Given the description of an element on the screen output the (x, y) to click on. 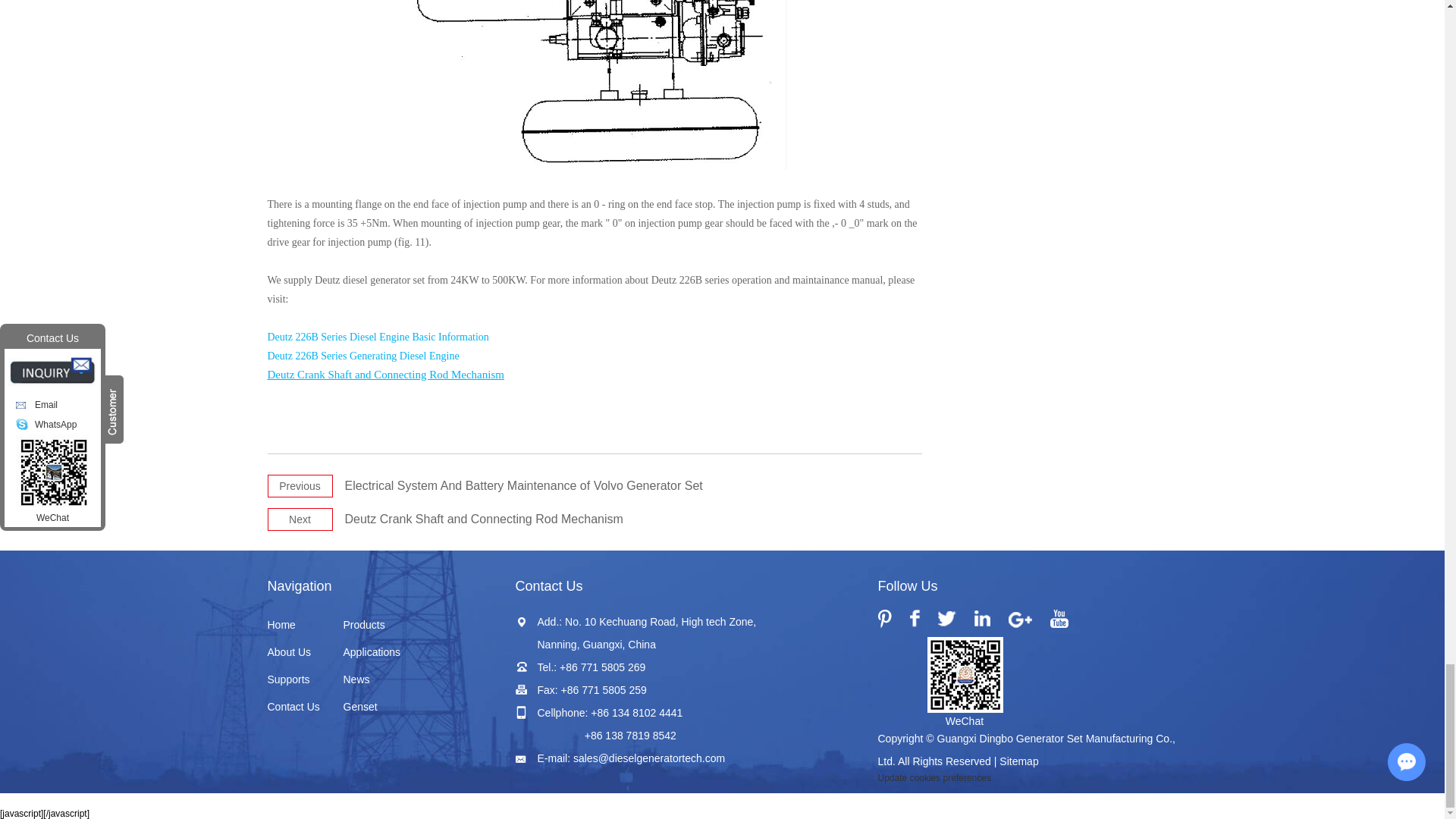
fuel supply system (594, 84)
